Given the description of an element on the screen output the (x, y) to click on. 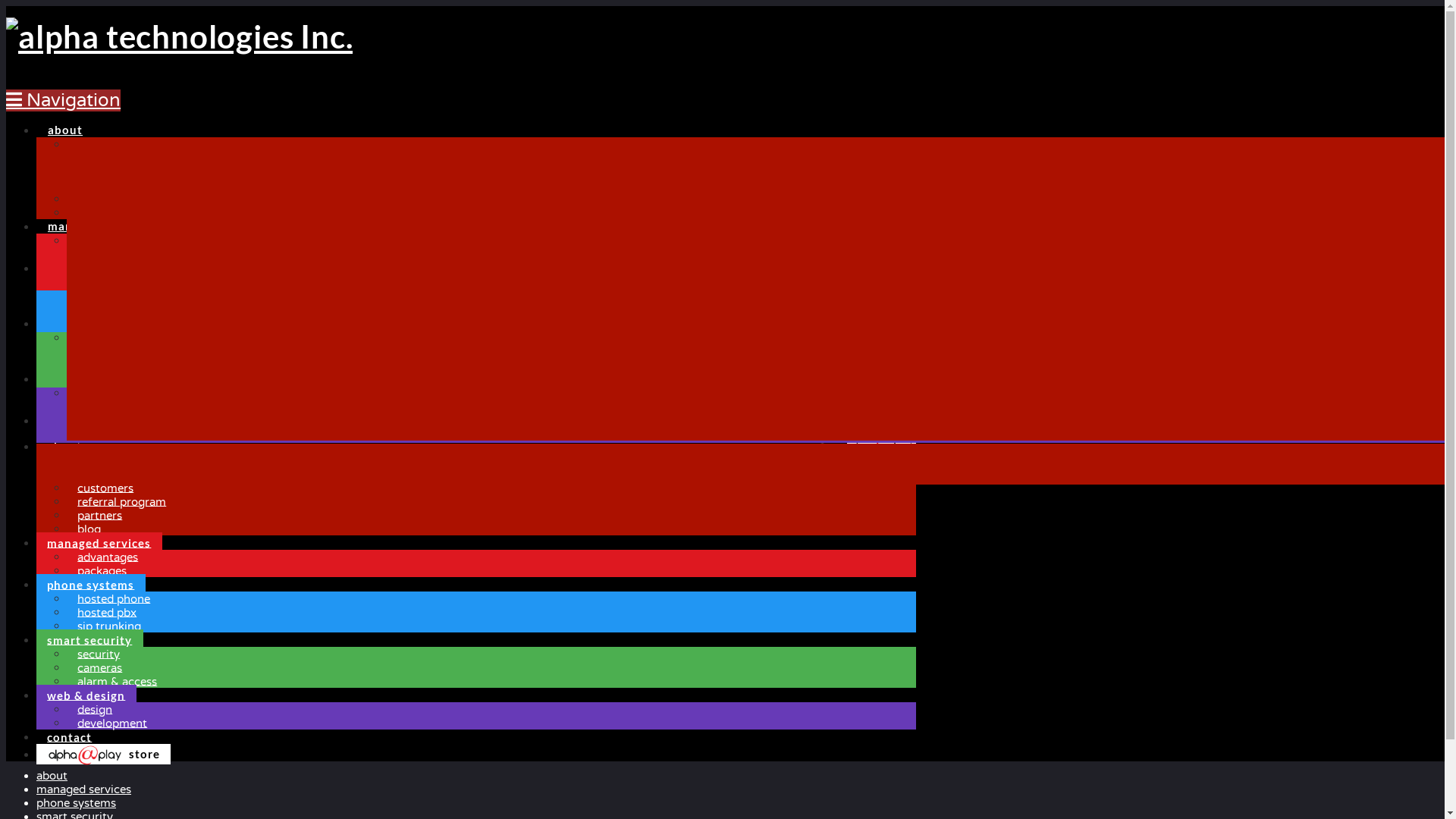
cameras Element type: text (88, 350)
phone systems Element type: text (76, 802)
managed services Element type: text (83, 789)
customers Element type: text (105, 487)
meet the alpha team Element type: text (132, 474)
web & design Element type: text (86, 694)
partners Element type: text (99, 515)
store Element type: text (881, 446)
Navigation Element type: text (63, 100)
customers Element type: text (94, 171)
hosted pbx Element type: text (95, 295)
sip trunking Element type: text (109, 625)
Sam, Max, and 93NORTHSKIS Element type: text (116, 436)
What makes an alpha technologies employee? Element type: text (128, 375)
managed services Element type: text (99, 219)
mission statement Element type: text (115, 143)
design Element type: text (94, 709)
about Element type: text (51, 775)
development Element type: text (101, 406)
contact Element type: text (69, 736)
sip trunking Element type: text (98, 309)
electra sign helping alpha light up Portage Avenue Element type: text (126, 402)
referral program Element type: text (110, 184)
hosted pbx Element type: text (106, 612)
blog Element type: text (78, 212)
phone systems Element type: text (90, 261)
smart security Element type: text (89, 639)
hosted phone Element type: text (102, 281)
referral program Element type: text (121, 501)
smart security Element type: text (89, 316)
Create New Ticket Element type: text (54, 690)
partners Element type: text (88, 198)
security Element type: text (87, 337)
A post secondary gem in Manitoba Element type: text (129, 354)
design Element type: text (83, 392)
alarm & access Element type: text (117, 680)
packages Element type: text (91, 253)
web & design Element type: text (86, 372)
alarm & access Element type: text (106, 364)
phone systems Element type: text (90, 583)
advantages Element type: text (107, 556)
sales@alphatechnologies.ca Element type: text (107, 677)
hosted phone Element type: text (113, 598)
store Element type: text (103, 753)
cameras Element type: text (99, 666)
packages Element type: text (102, 569)
security Element type: text (98, 653)
about Element type: text (64, 123)
advantages Element type: text (96, 240)
meet the alpha team Element type: text (121, 157)
about Element type: text (64, 445)
mission statement Element type: text (126, 460)
contact Element type: text (69, 413)
Facebook Element type: hover (10, 750)
development Element type: text (112, 722)
client support Element type: text (1139, 33)
blog Element type: text (89, 528)
managed services Element type: text (99, 542)
